Given the description of an element on the screen output the (x, y) to click on. 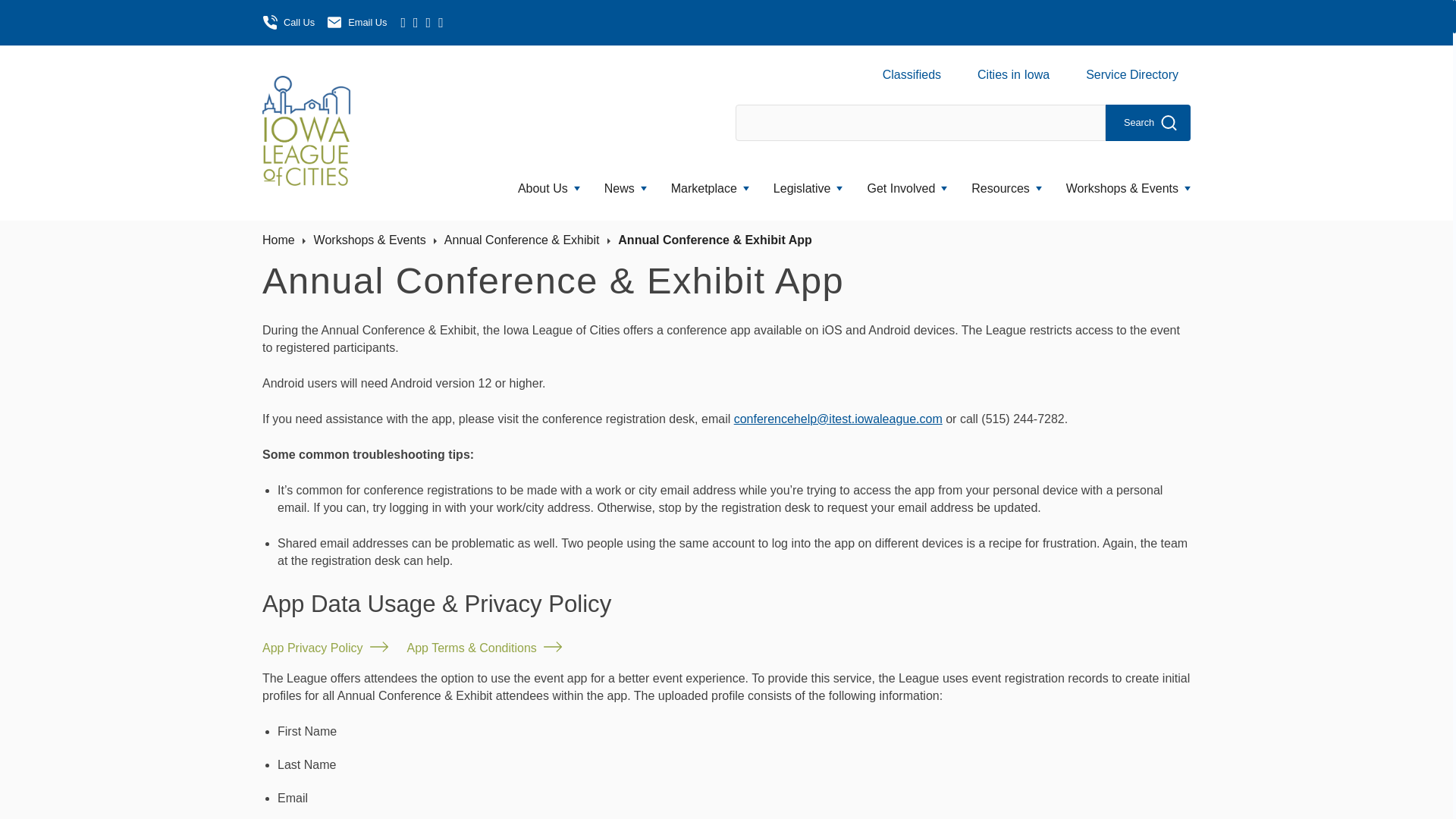
Get Involved (906, 184)
About Us (548, 184)
Legislative (808, 184)
Call Us (288, 22)
Search (1148, 122)
Search (1148, 122)
Marketplace (710, 184)
Search (1148, 122)
Email Us (356, 22)
Classifieds (917, 70)
